Given the description of an element on the screen output the (x, y) to click on. 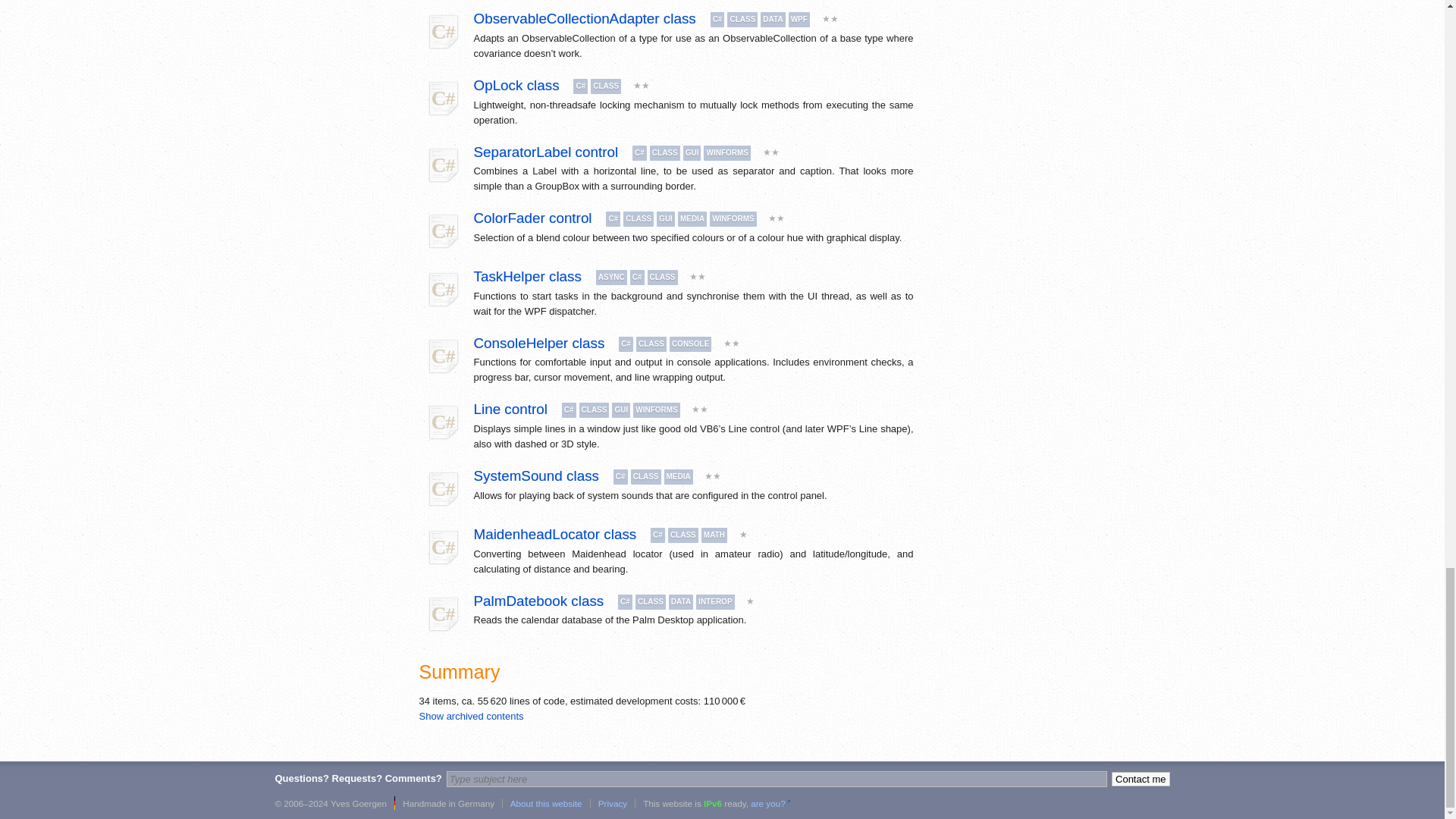
Contact me (1140, 779)
